Given the description of an element on the screen output the (x, y) to click on. 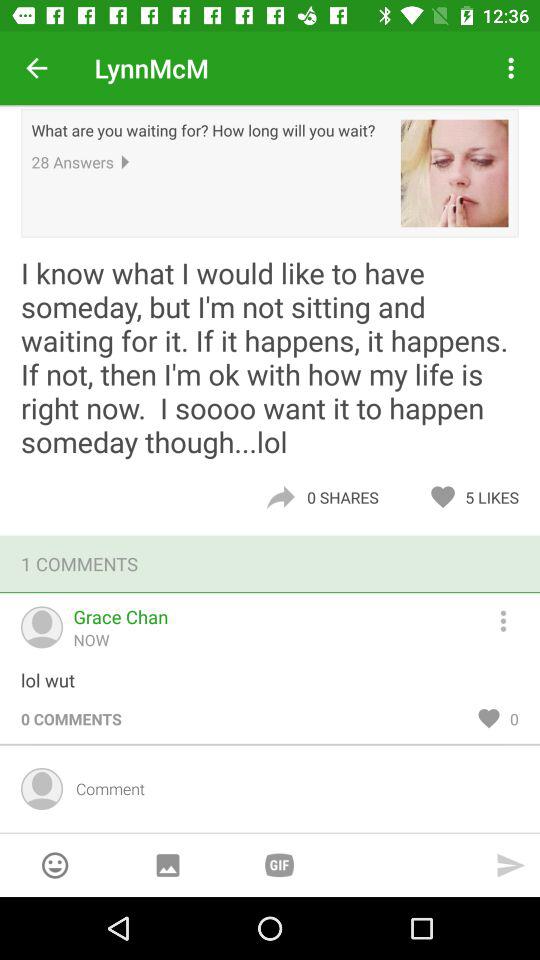
turn on the item below lol wut (71, 718)
